Given the description of an element on the screen output the (x, y) to click on. 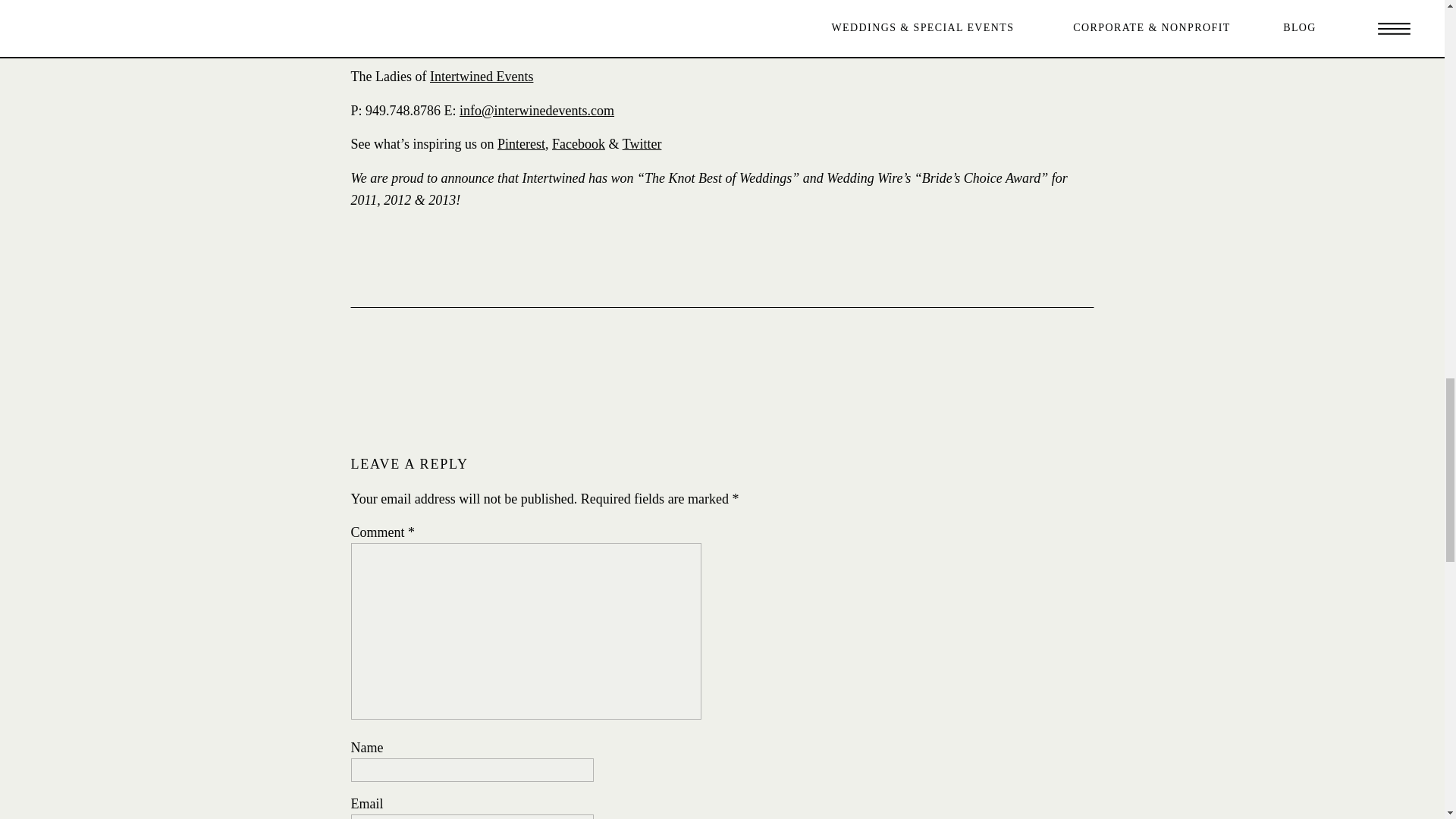
Intertwined Events (480, 76)
Couple (547, 7)
ice hotel (659, 7)
Pinterest (520, 143)
Facebook (578, 143)
Greece (709, 7)
Twitter (642, 143)
